Given the description of an element on the screen output the (x, y) to click on. 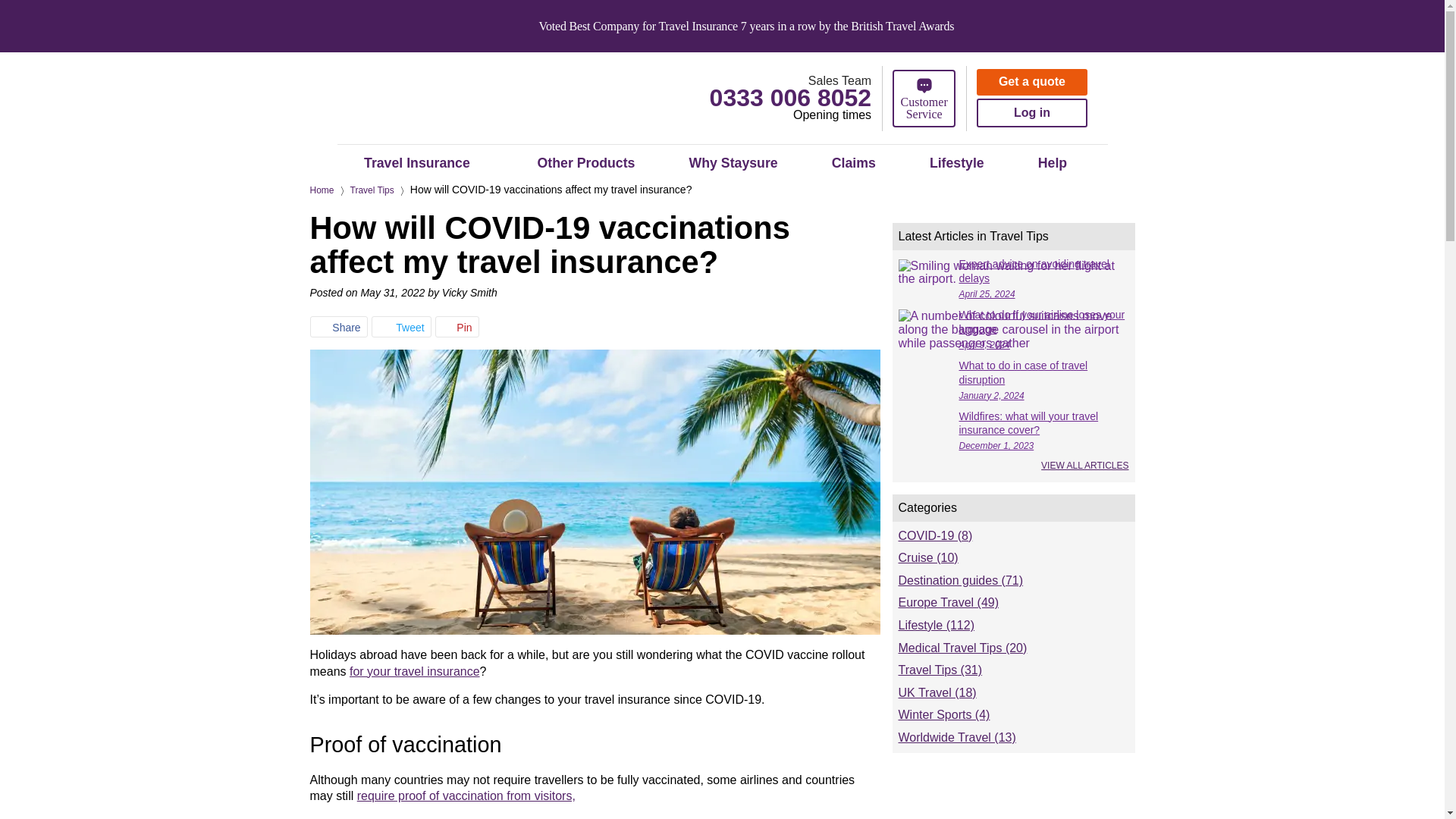
Share on Twitter (401, 326)
0333 006 8052 (791, 97)
Share on Facebook (338, 326)
Get a quote (1031, 81)
Home (320, 190)
Log in (1031, 112)
Share on Pinterest (457, 326)
